Given the description of an element on the screen output the (x, y) to click on. 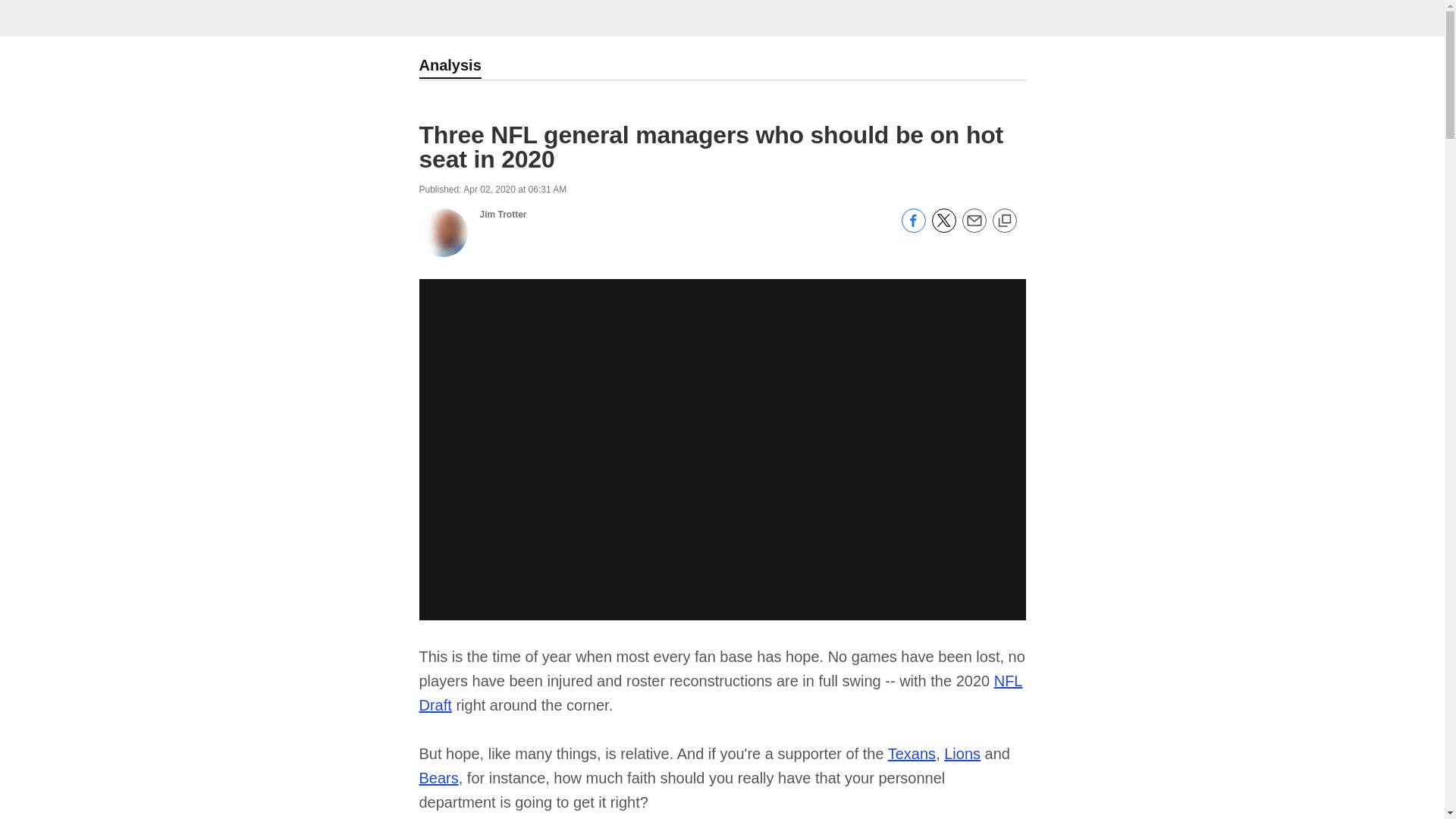
Copy link (1003, 221)
NFL Draft (720, 692)
Analysis (449, 66)
Share on Facebook (912, 228)
Share on Twitter (943, 228)
Send email (972, 228)
Lions (961, 753)
Bears (438, 777)
Texans (912, 753)
